Given the description of an element on the screen output the (x, y) to click on. 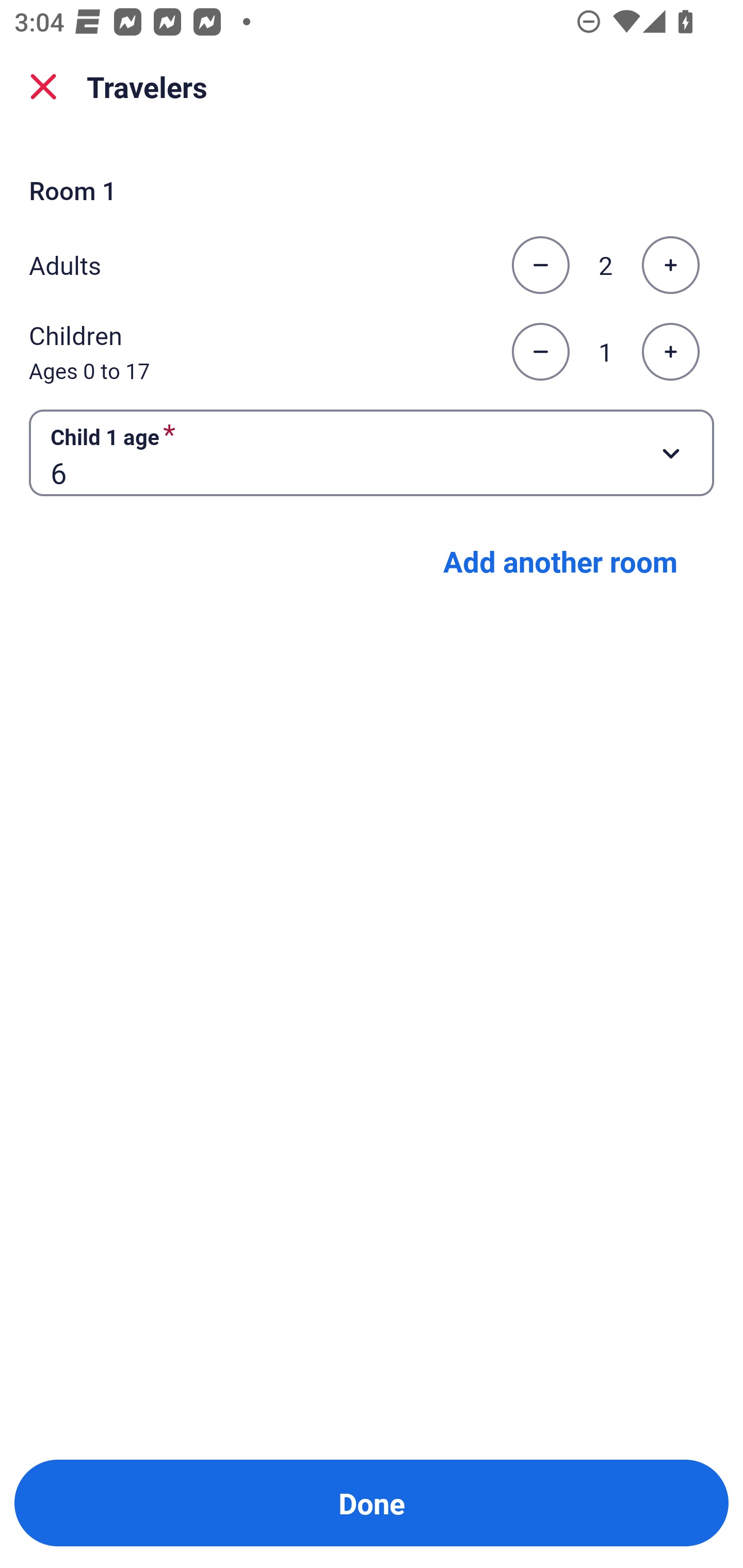
close (43, 86)
Decrease the number of adults (540, 264)
Increase the number of adults (670, 264)
Decrease the number of children (540, 351)
Increase the number of children (670, 351)
Child 1 age required Button 6 (371, 452)
Add another room (560, 561)
Done (371, 1502)
